Given the description of an element on the screen output the (x, y) to click on. 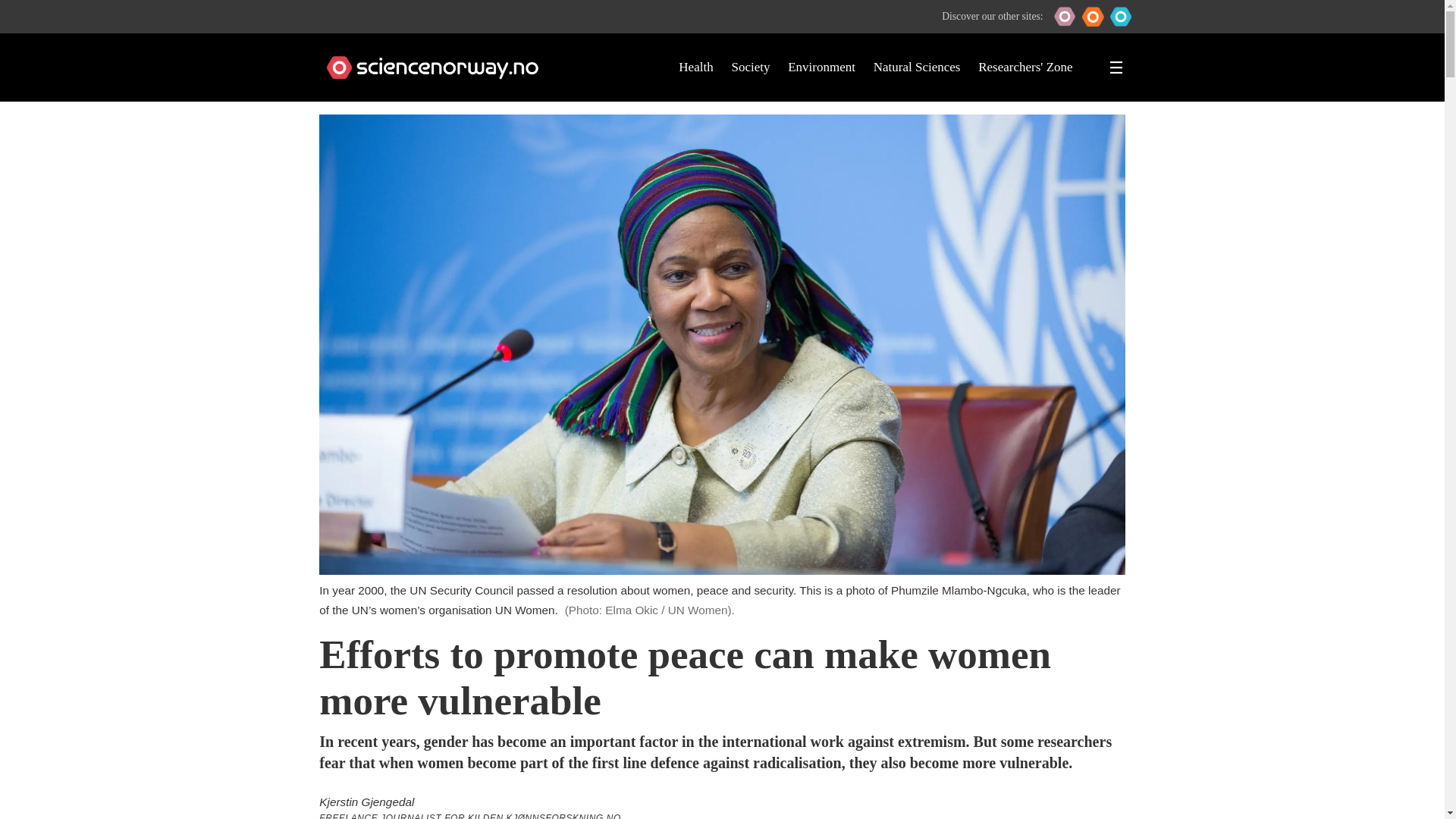
Environment (821, 66)
Society (750, 66)
Natural Sciences (916, 66)
Health (695, 66)
Researchers' Zone (1024, 66)
